Given the description of an element on the screen output the (x, y) to click on. 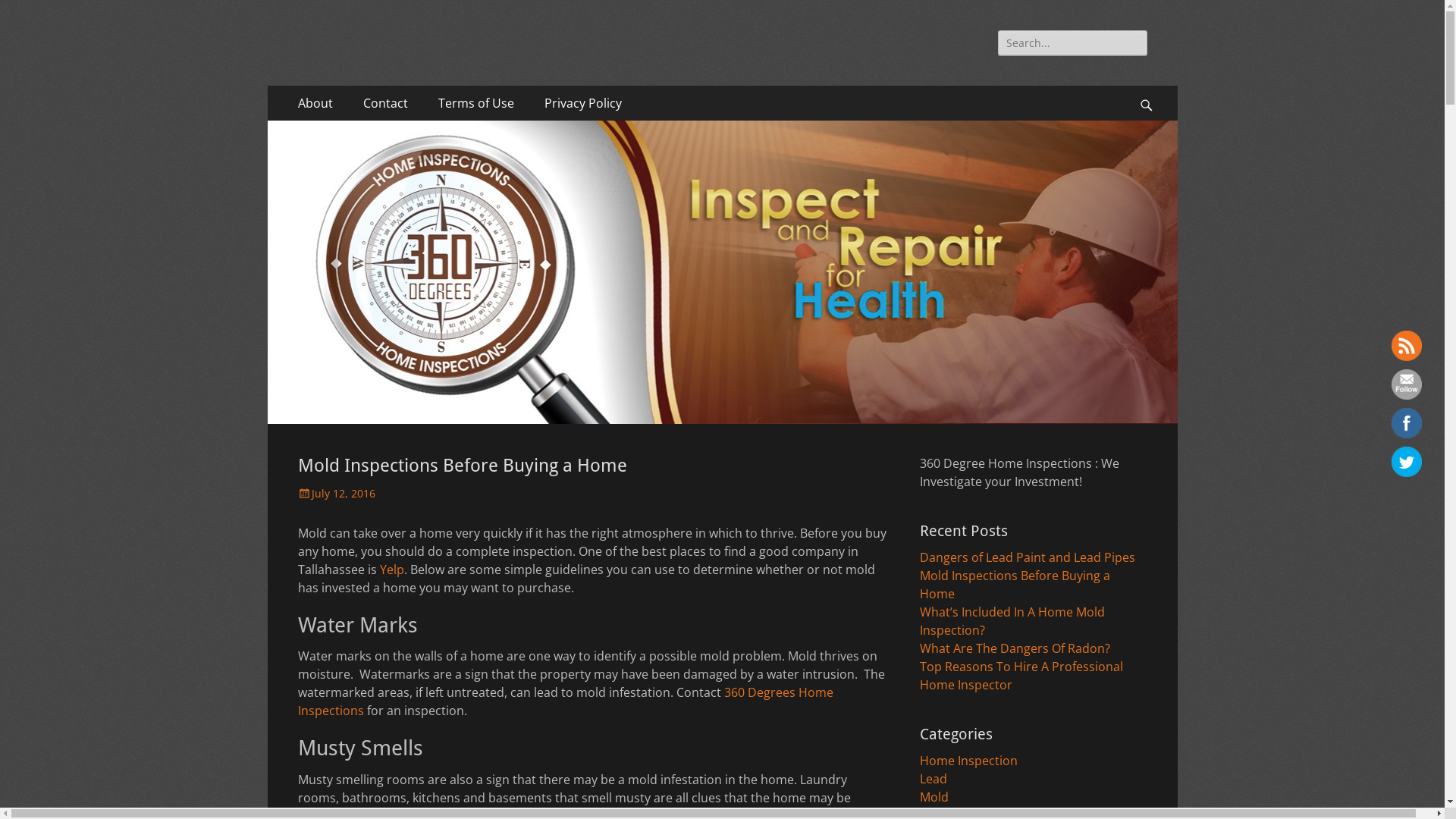
Yelp Element type: text (391, 569)
Terms of Use Element type: text (476, 102)
Search Element type: text (23, 12)
Mold Inspections Before Buying a Home Element type: text (461, 465)
Search for: Element type: hover (1072, 42)
Follow by Email Element type: hover (1406, 383)
Search Element type: text (1154, 85)
Home Inspection Element type: text (967, 760)
360 Degrees Home Inspections - Mold, Radon, Lead Element type: text (651, 48)
Facebook Element type: hover (1406, 422)
360 Degrees Home Inspections Element type: text (564, 701)
About Element type: text (314, 102)
Contact Element type: text (384, 102)
Dangers of Lead Paint and Lead Pipes Element type: text (1026, 557)
Twitter Element type: hover (1406, 460)
Mold Element type: text (933, 796)
Lead Element type: text (932, 778)
Mold Inspections Before Buying a Home Element type: text (1014, 584)
Top Reasons To Hire A Professional Home Inspector Element type: text (1020, 675)
RSS Element type: hover (1406, 345)
Privacy Policy Element type: text (583, 102)
July 12, 2016 Element type: text (335, 493)
What Are The Dangers Of Radon? Element type: text (1014, 648)
